Given the description of an element on the screen output the (x, y) to click on. 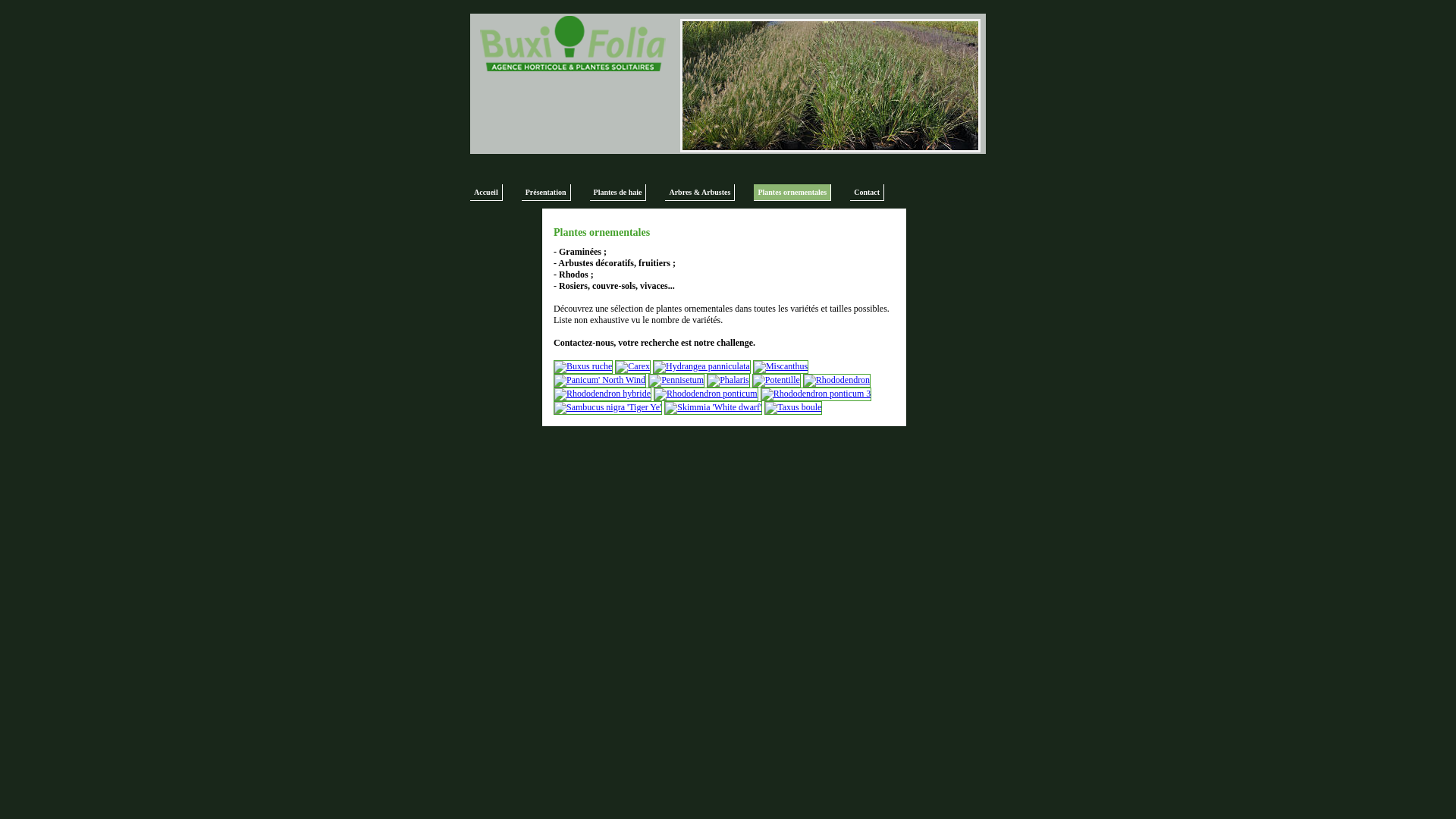
Taxus boule Element type: hover (793, 406)
Rhododendron Element type: hover (836, 379)
Panicum' North Wind Element type: hover (599, 379)
Skimmia 'White dwarf' Element type: hover (713, 406)
Plantes de haie Element type: text (617, 192)
Rhododendron hybride Element type: hover (602, 393)
Arbres & Arbustes Element type: text (699, 192)
Carex Element type: hover (632, 365)
Contact Element type: text (867, 192)
Hydrangea panniculata Element type: hover (701, 365)
Miscanthus Element type: hover (780, 365)
Accueil Element type: text (486, 192)
Phalaris Element type: hover (727, 379)
Potentille Element type: hover (776, 379)
Buxus ruche Element type: hover (582, 365)
Rhododendron ponticum 3 Element type: hover (816, 393)
Sambucus nigra 'Tiger Ye' Element type: hover (607, 406)
Rhododendron ponticum Element type: hover (705, 393)
Pennisetum Element type: hover (676, 379)
Plantes ornementales Element type: text (792, 192)
